Given the description of an element on the screen output the (x, y) to click on. 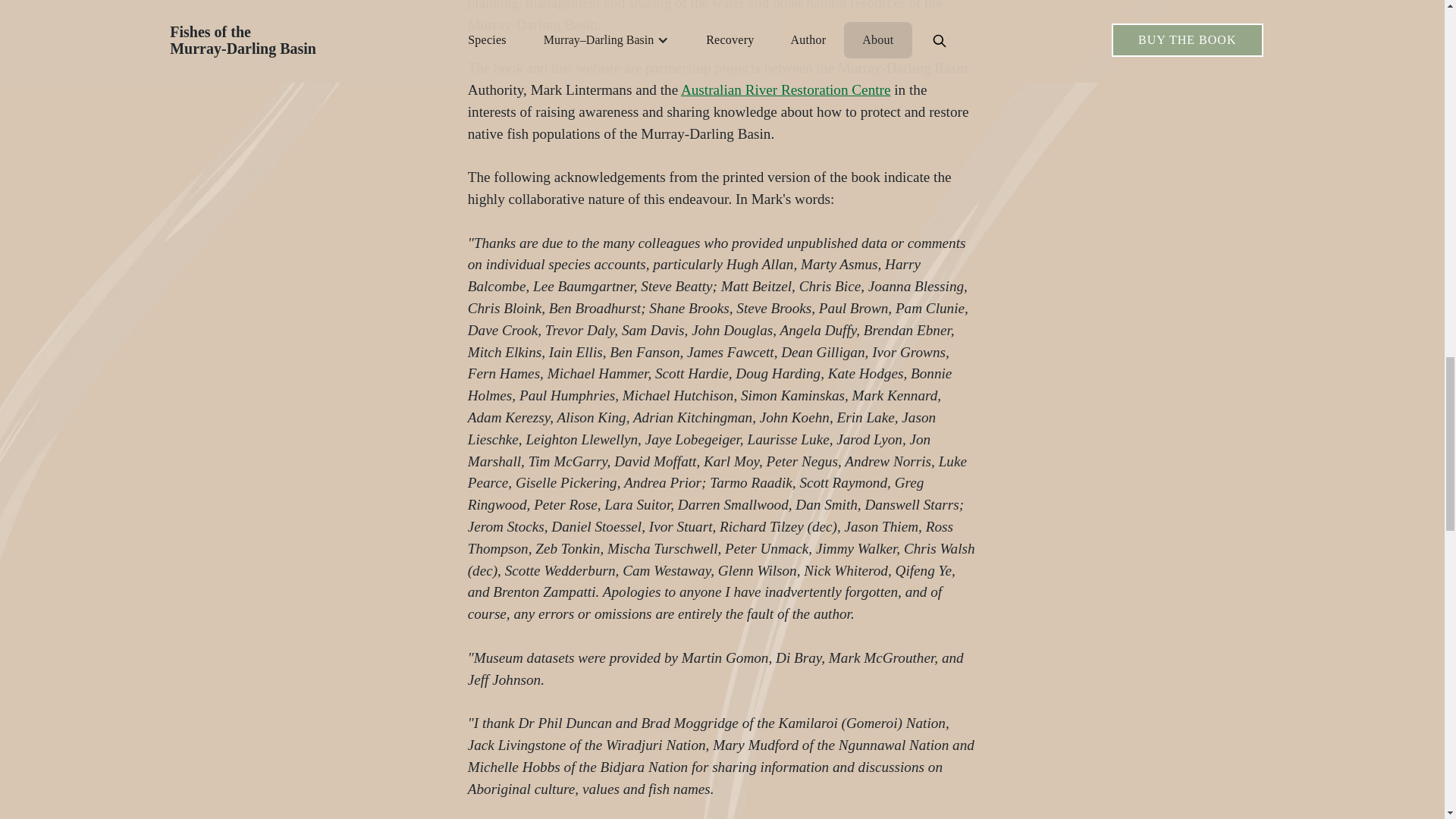
Australian River Restoration Centre (786, 89)
